Given the description of an element on the screen output the (x, y) to click on. 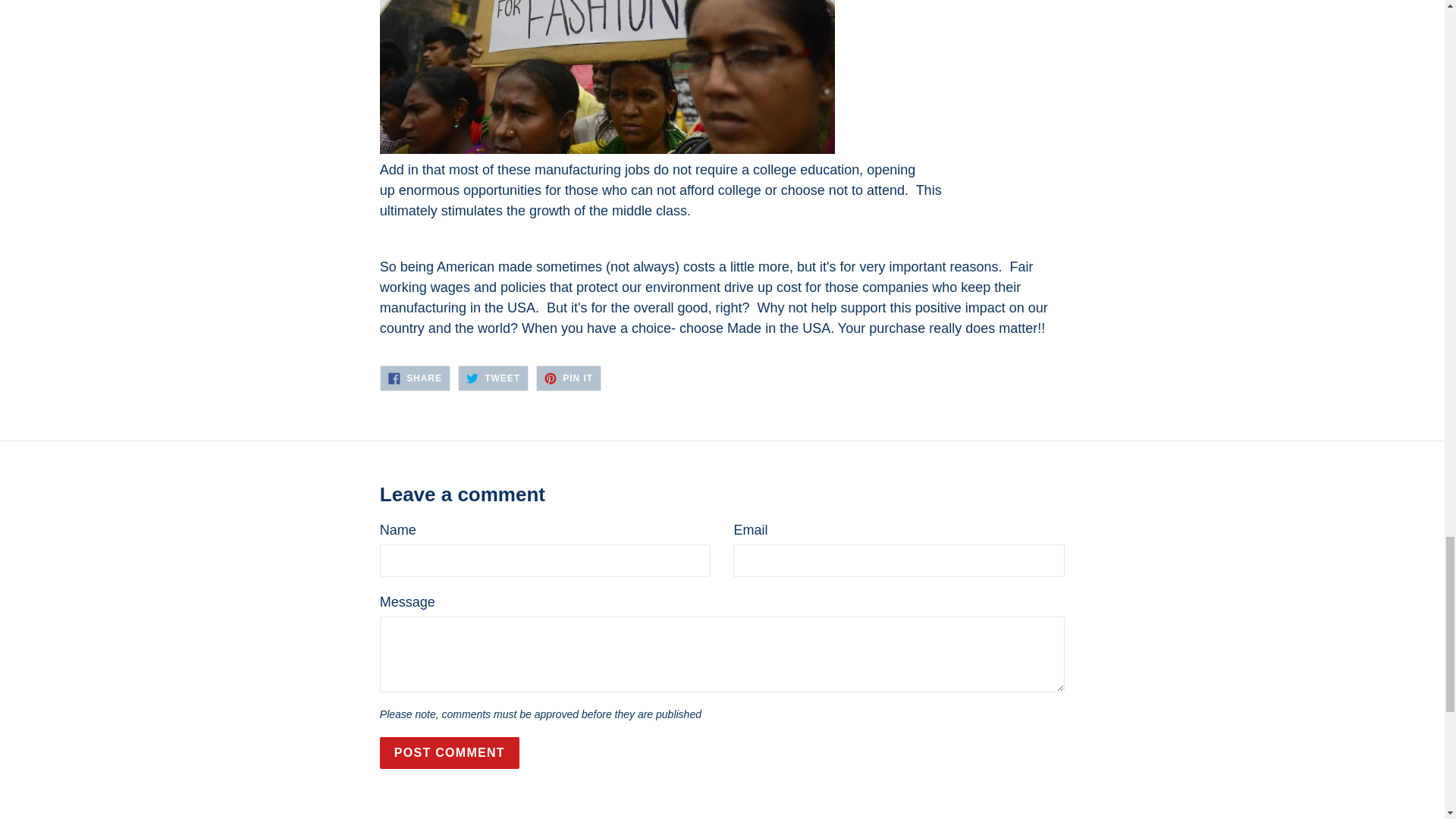
Post comment (449, 752)
Tweet on Twitter (493, 378)
Pin on Pinterest (568, 378)
Share on Facebook (414, 378)
